Given the description of an element on the screen output the (x, y) to click on. 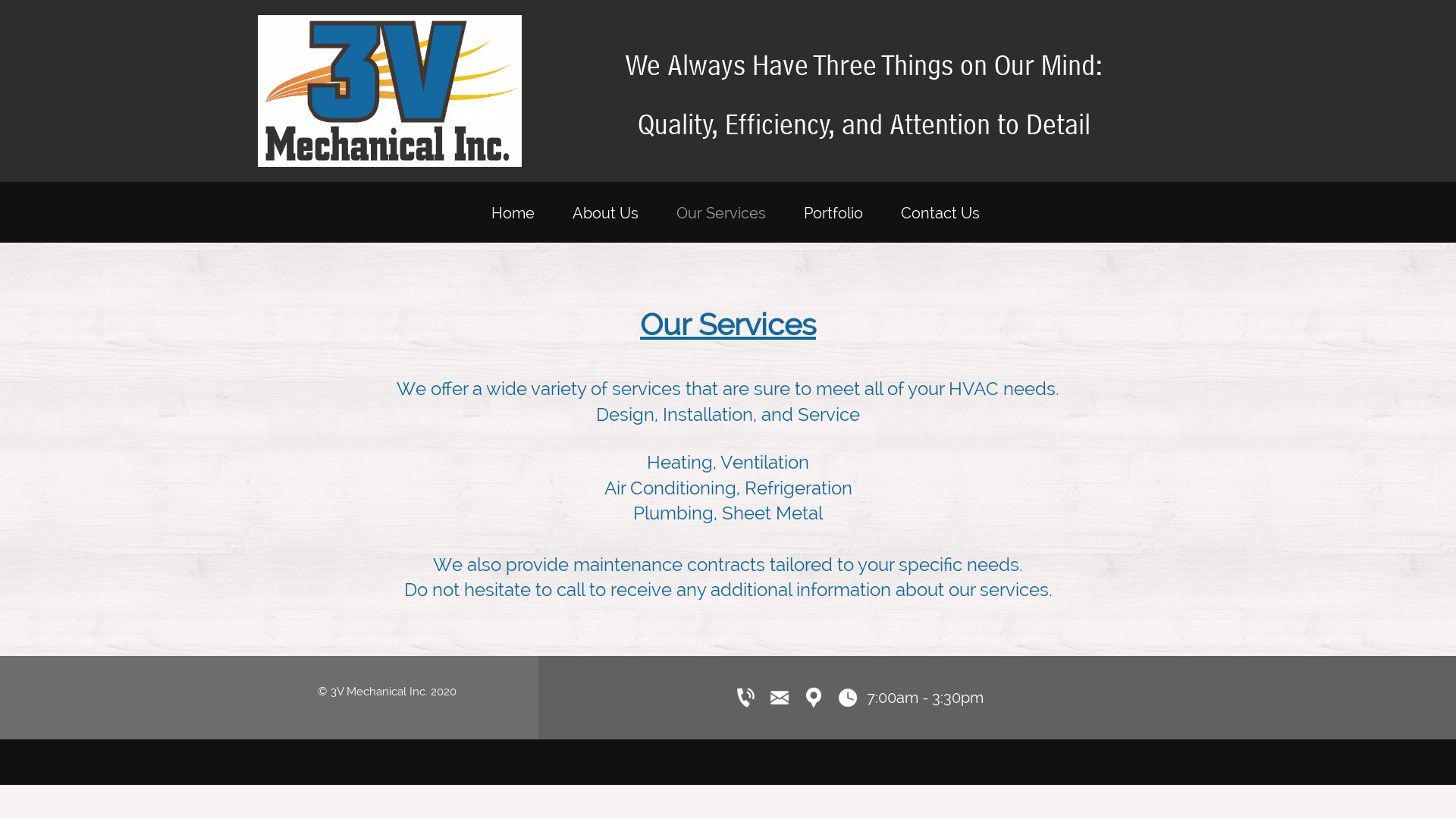
About Us Element type: text (605, 216)
Home Element type: text (512, 216)
Go to site home page Element type: hover (389, 90)
Phone Element type: hover (745, 697)
Our Services Element type: text (720, 216)
Email Element type: hover (779, 697)
Contact Us Element type: text (939, 216)
Open Hours Element type: text (847, 697)
Portfolio Element type: text (832, 216)
Address Element type: hover (813, 697)
